Given the description of an element on the screen output the (x, y) to click on. 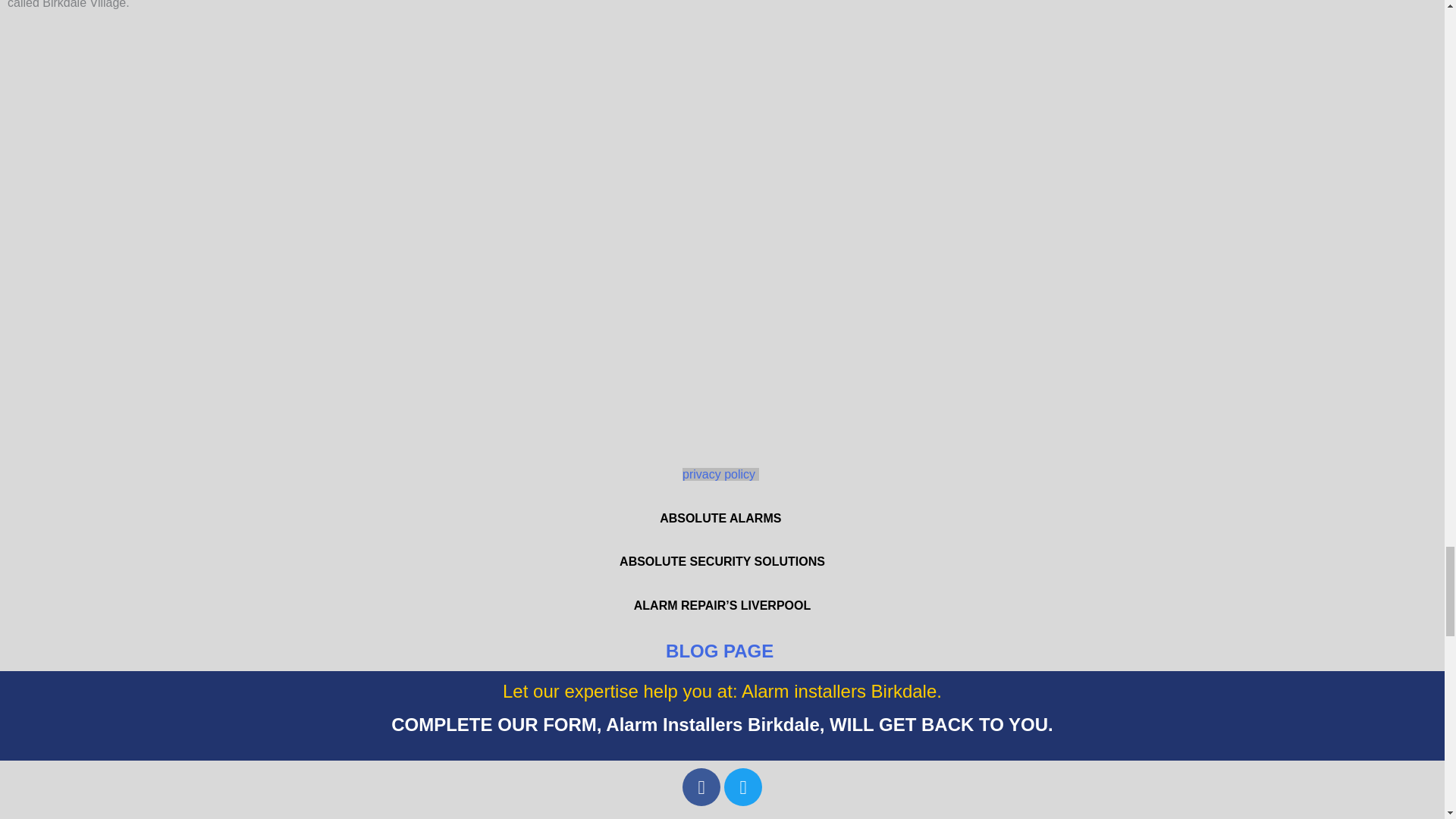
BLOG PAGE  (721, 650)
ABSOLUTE SECURITY SOLUTIONS (722, 561)
privacy policy  (720, 473)
ABSOLUTE ALARMS  (721, 517)
